Given the description of an element on the screen output the (x, y) to click on. 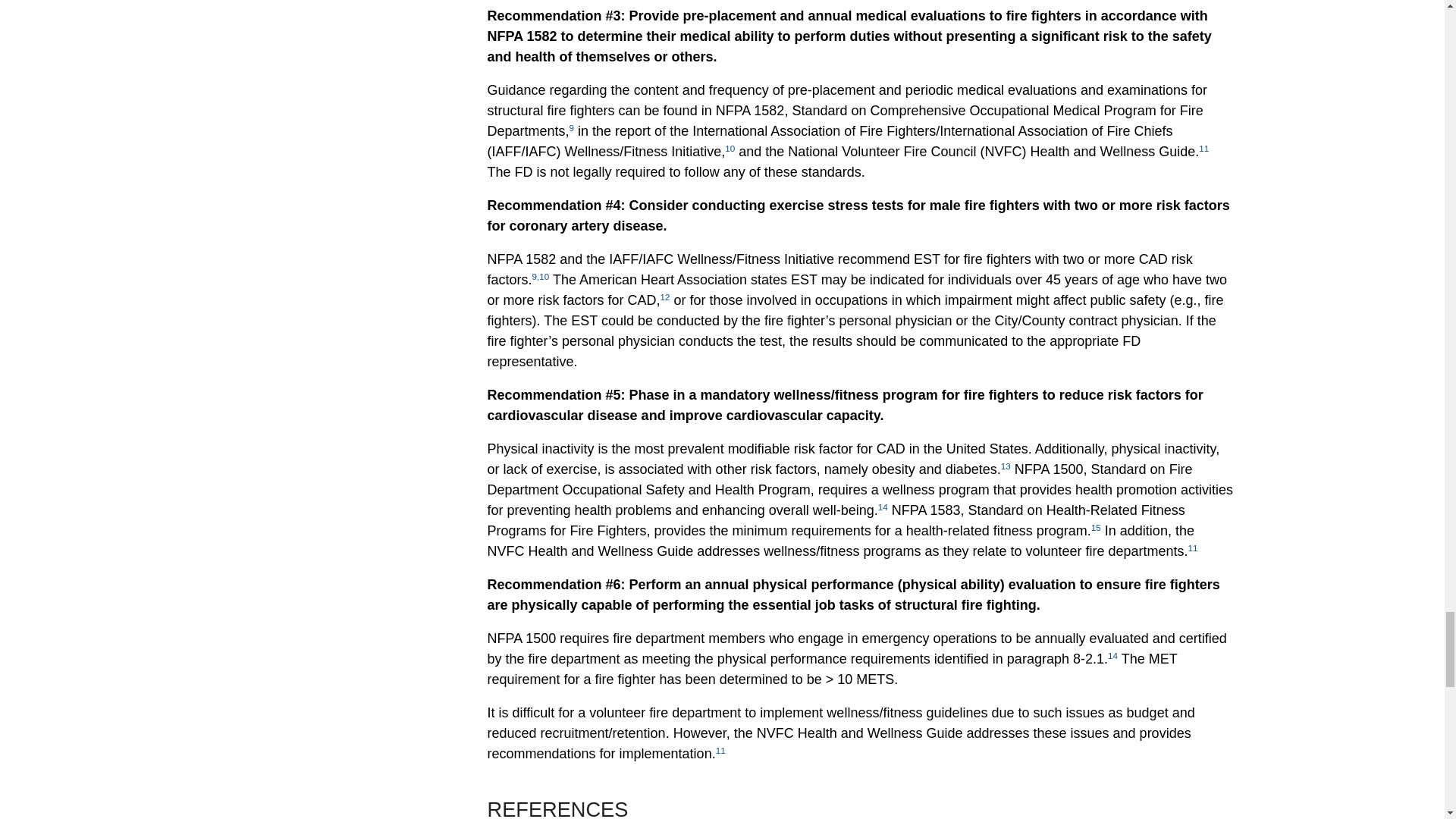
10 (730, 148)
9,10 (541, 276)
12 (665, 296)
11 (1203, 148)
